Given the description of an element on the screen output the (x, y) to click on. 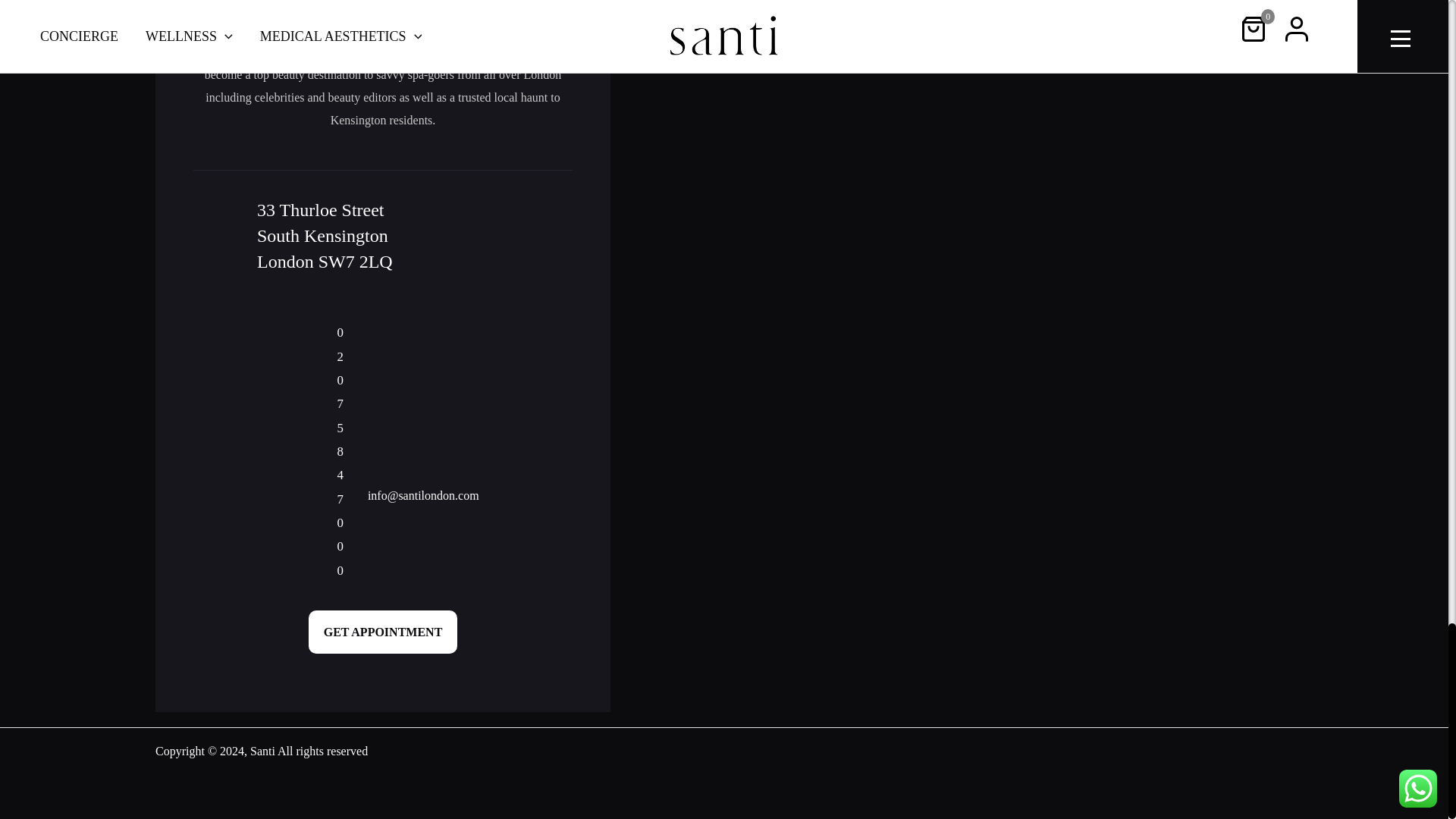
Search (1275, 6)
Search (1275, 6)
